Given the description of an element on the screen output the (x, y) to click on. 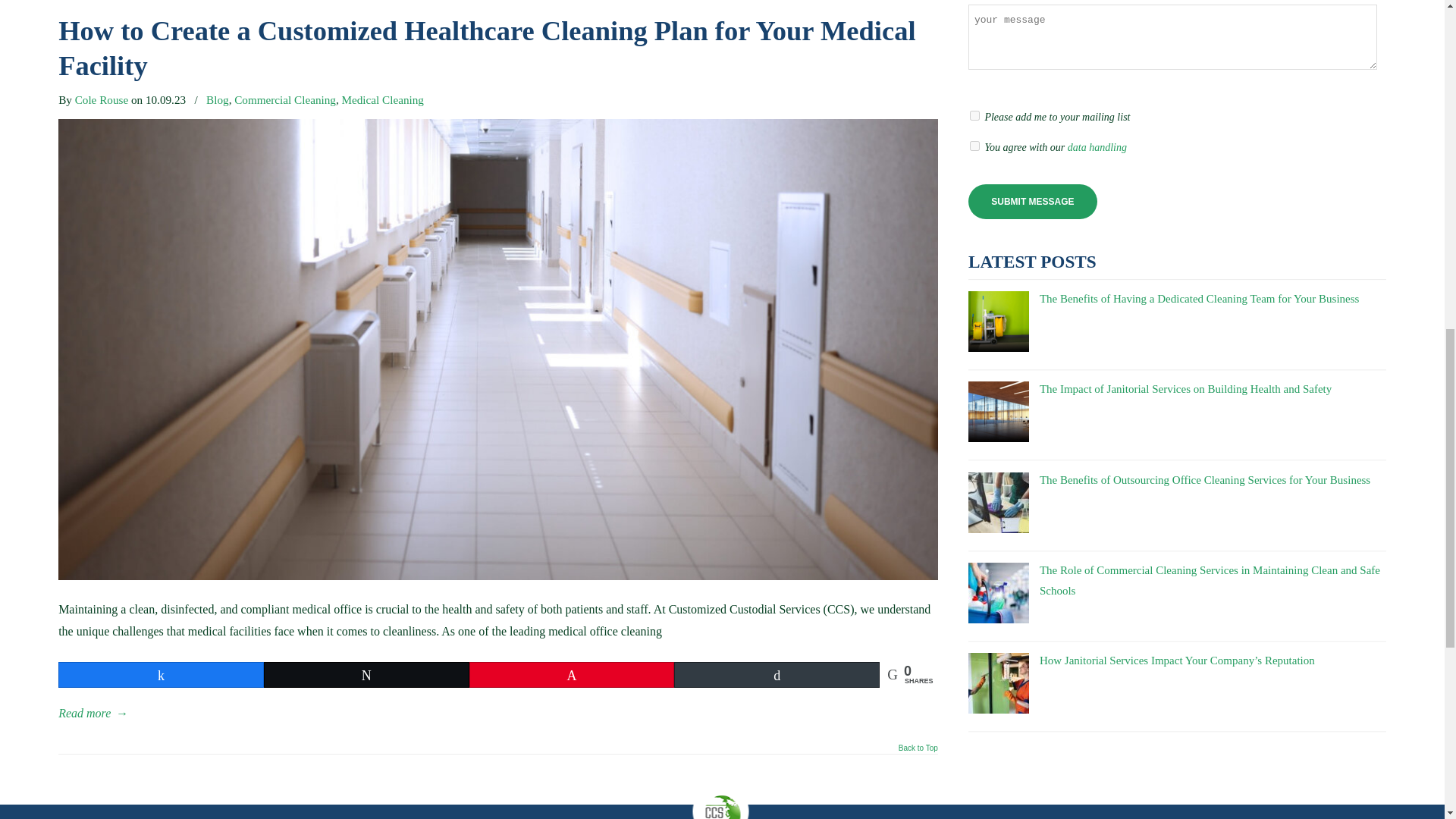
Top of Page (917, 752)
1 (974, 145)
Cole Rouse (101, 99)
Read more (93, 713)
Blog (217, 99)
Posts by Cole Rouse (101, 99)
Please add me to your mailing list (974, 115)
SUBMIT MESSAGE (1032, 201)
